Given the description of an element on the screen output the (x, y) to click on. 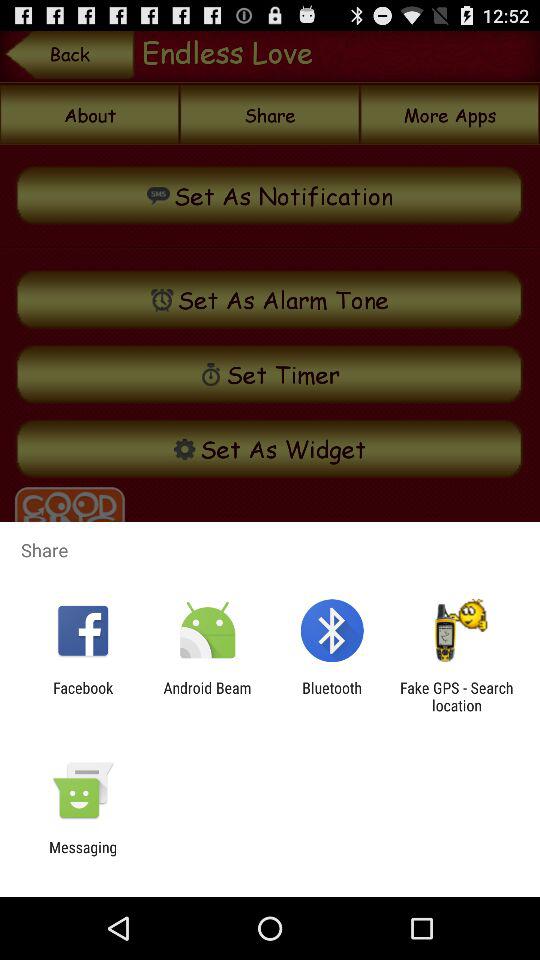
jump until bluetooth item (331, 696)
